Given the description of an element on the screen output the (x, y) to click on. 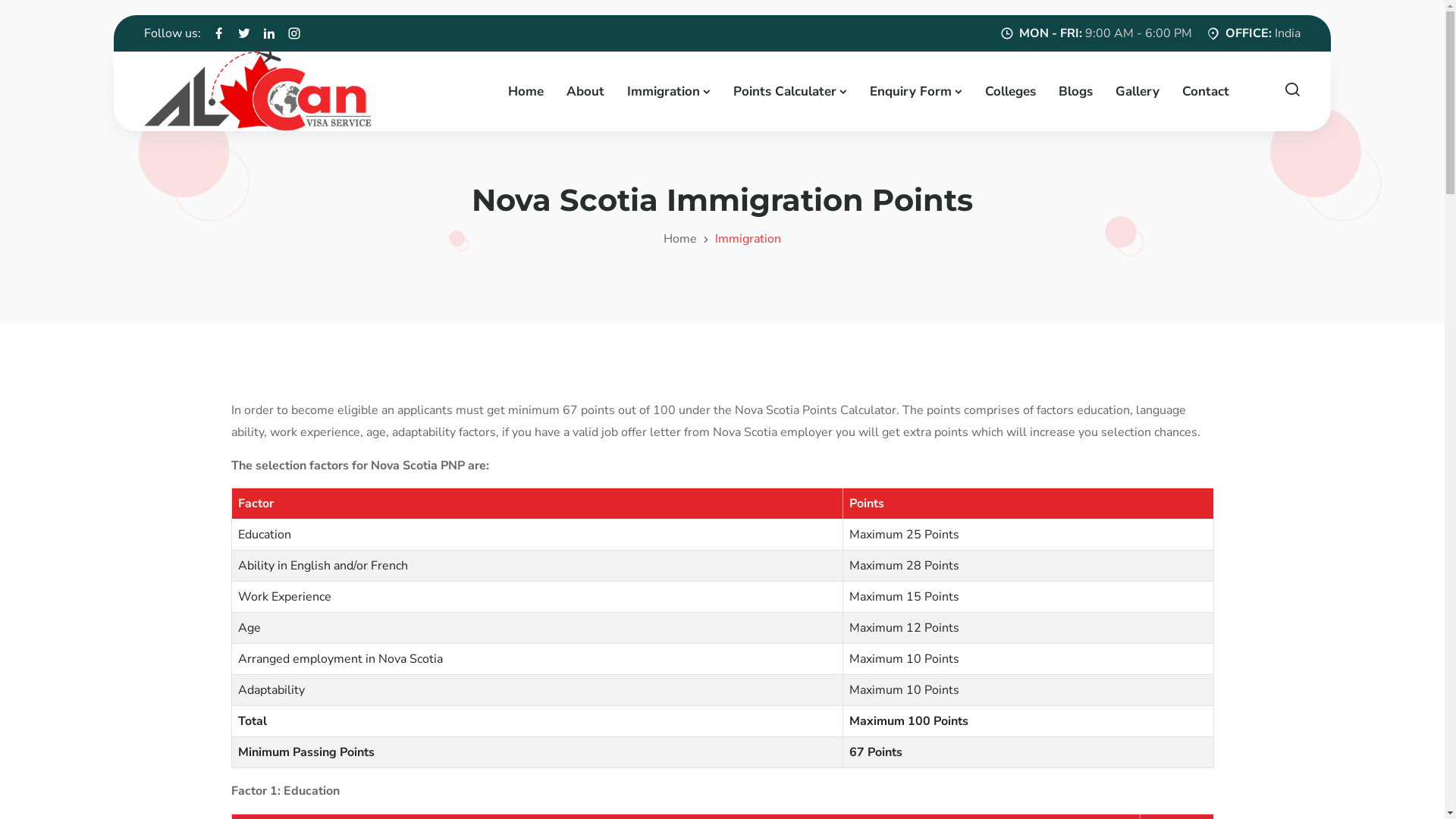
Colleges Element type: text (1009, 90)
Enquiry Form Element type: text (915, 90)
Home Element type: text (679, 238)
Immigration Element type: text (667, 90)
Home Element type: text (525, 90)
Contact Element type: text (1204, 90)
Blogs Element type: text (1075, 90)
About Element type: text (584, 90)
Points Calculater Element type: text (789, 90)
Gallery Element type: text (1136, 90)
